Given the description of an element on the screen output the (x, y) to click on. 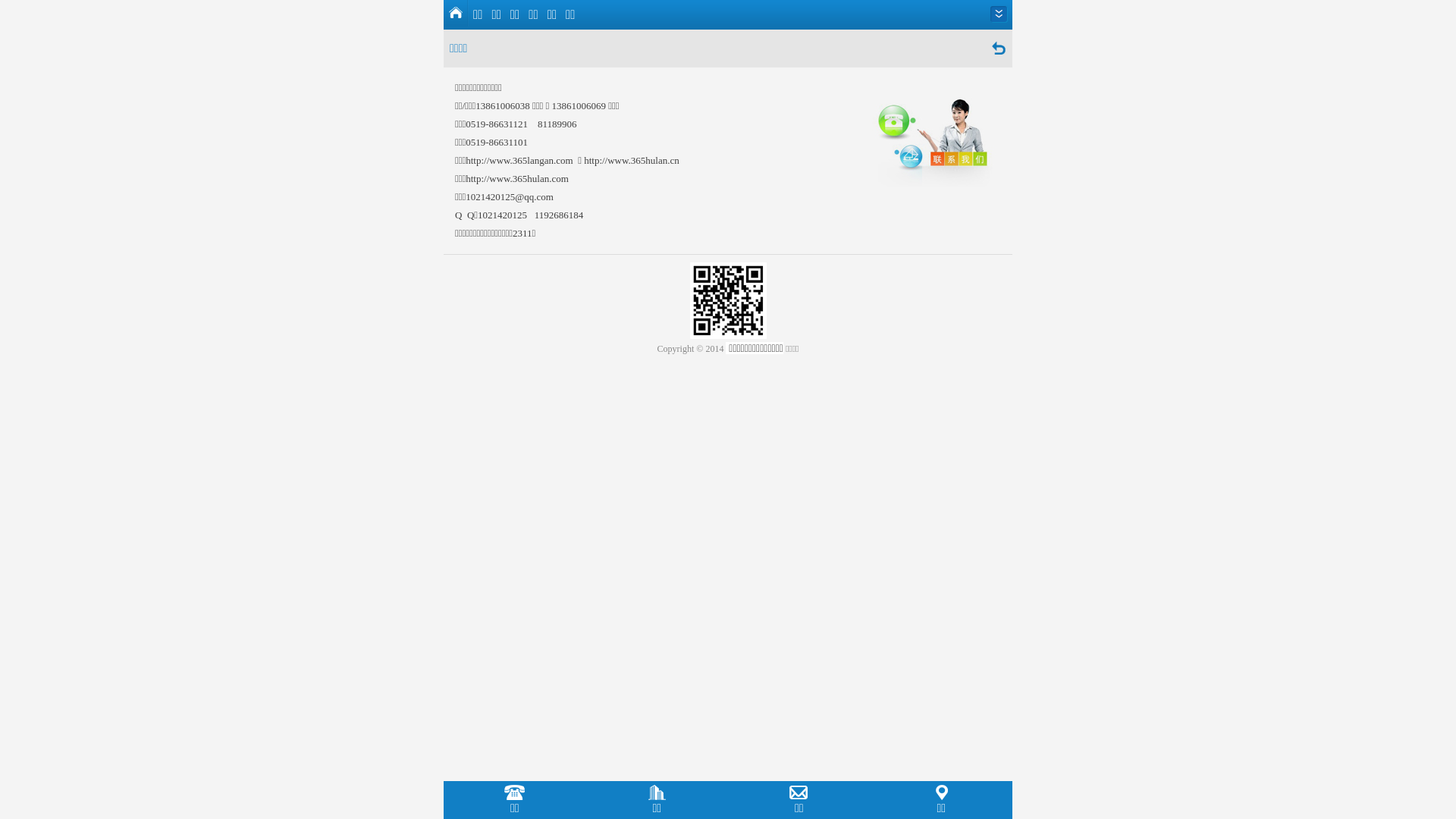
  Element type: text (998, 14)
